Given the description of an element on the screen output the (x, y) to click on. 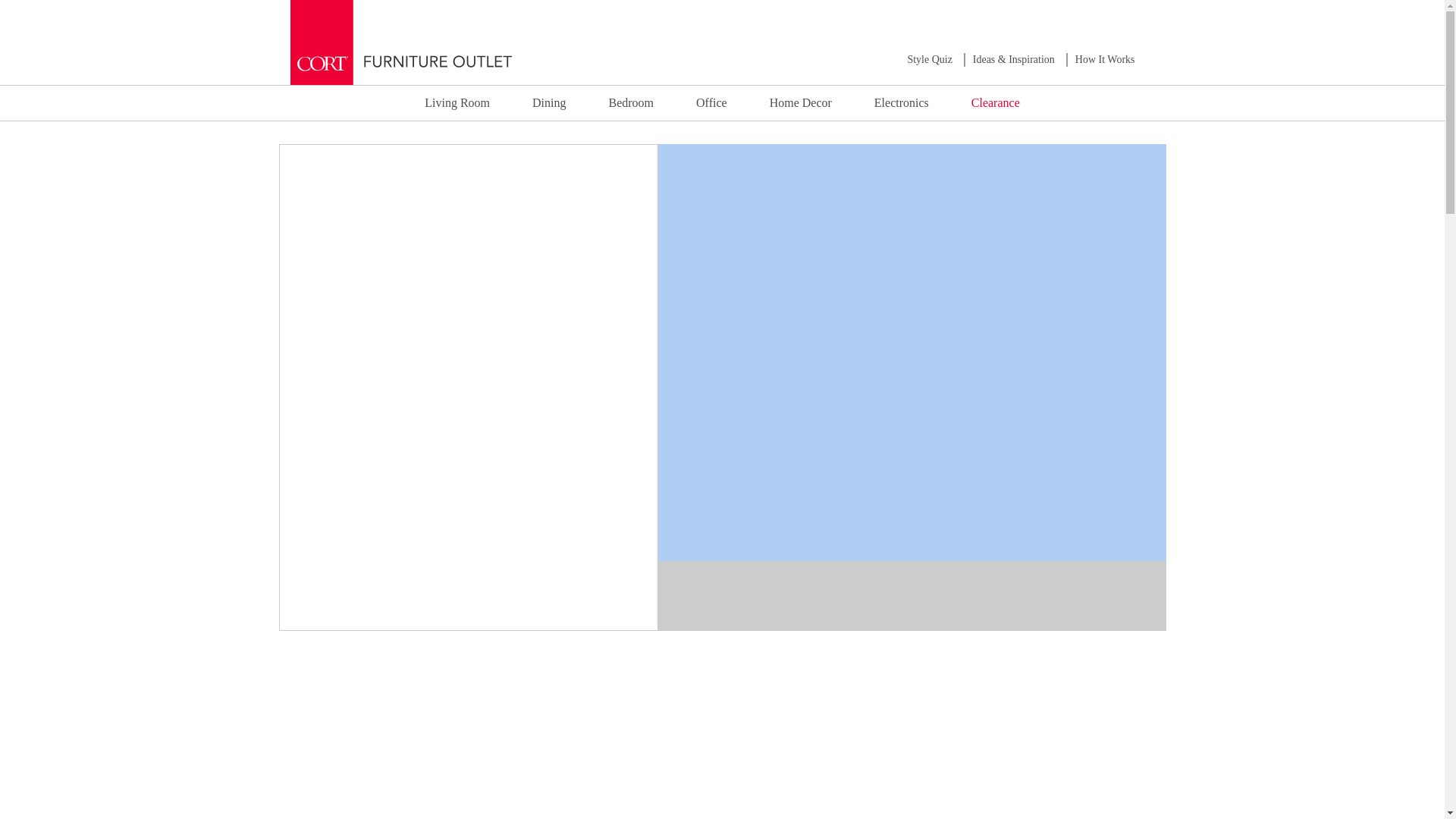
Style Quiz (929, 59)
Living Room (457, 102)
How It Works (1106, 59)
Clearance (995, 102)
Home Decor (800, 102)
Bedroom (630, 102)
Electronics (901, 102)
Dining (548, 102)
Office (711, 102)
